Given the description of an element on the screen output the (x, y) to click on. 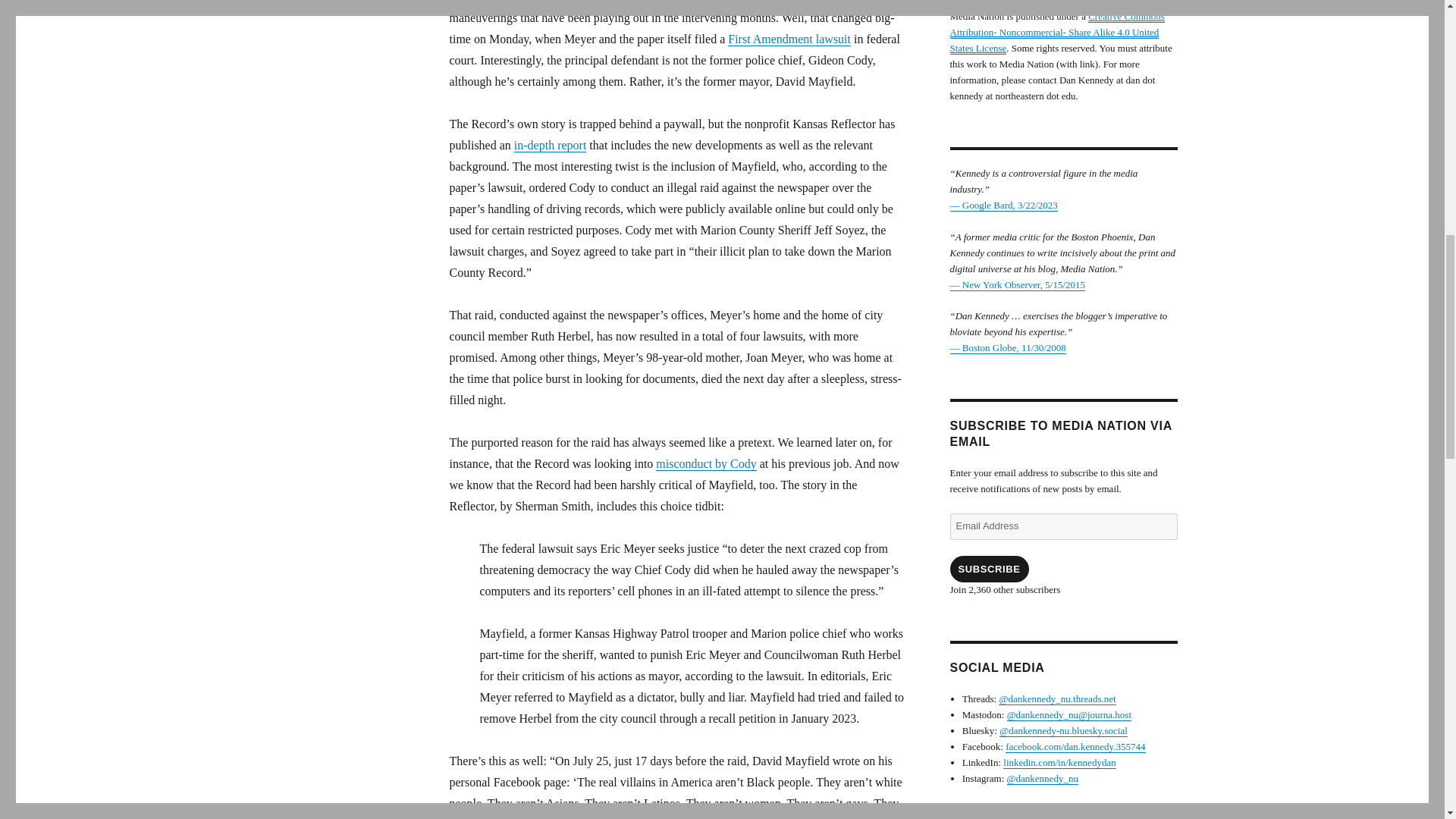
misconduct by Cody (705, 463)
First Amendment lawsuit (789, 38)
in-depth report (549, 144)
